Given the description of an element on the screen output the (x, y) to click on. 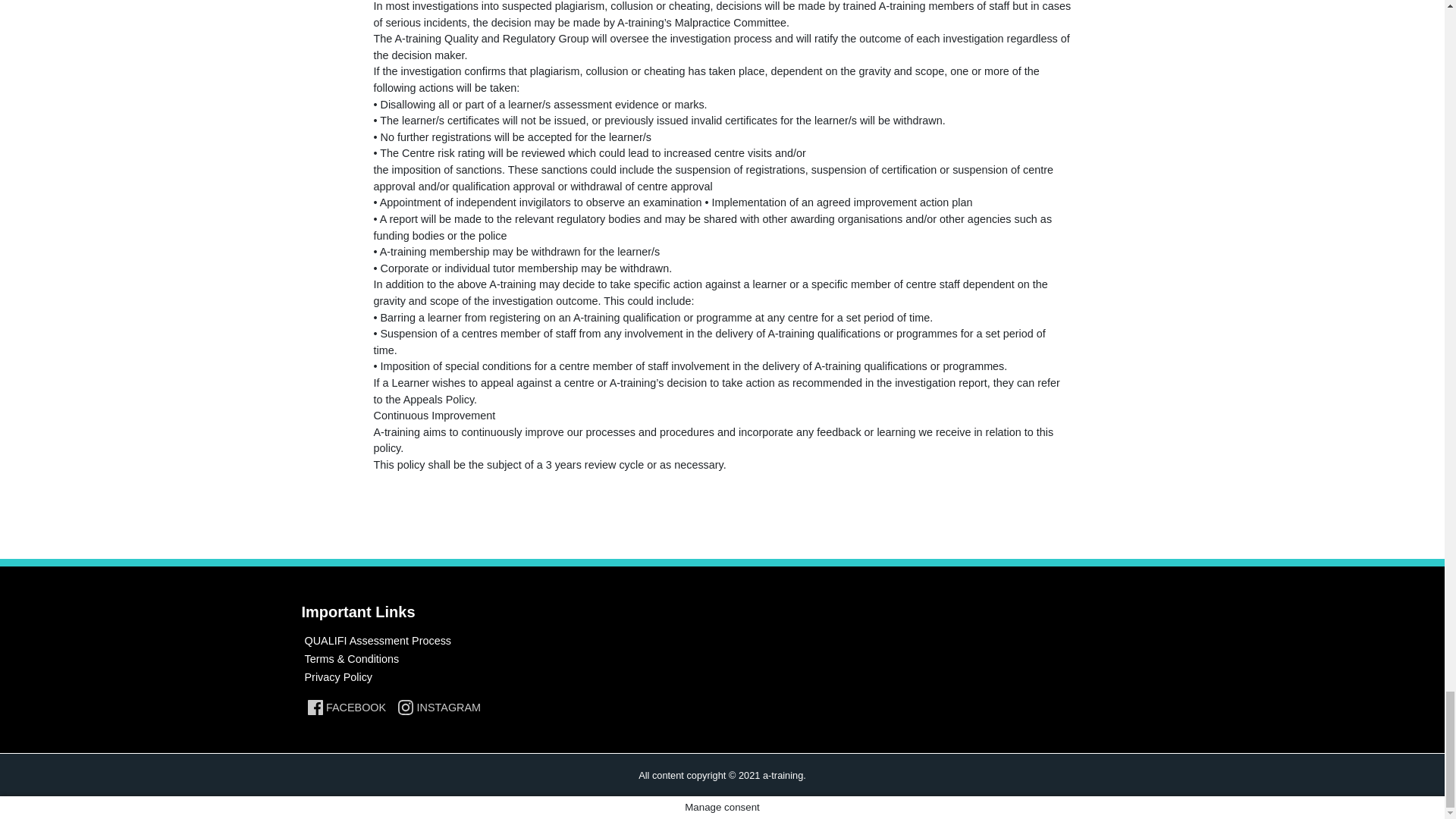
QUALIFI Assessment Process (377, 640)
